Given the description of an element on the screen output the (x, y) to click on. 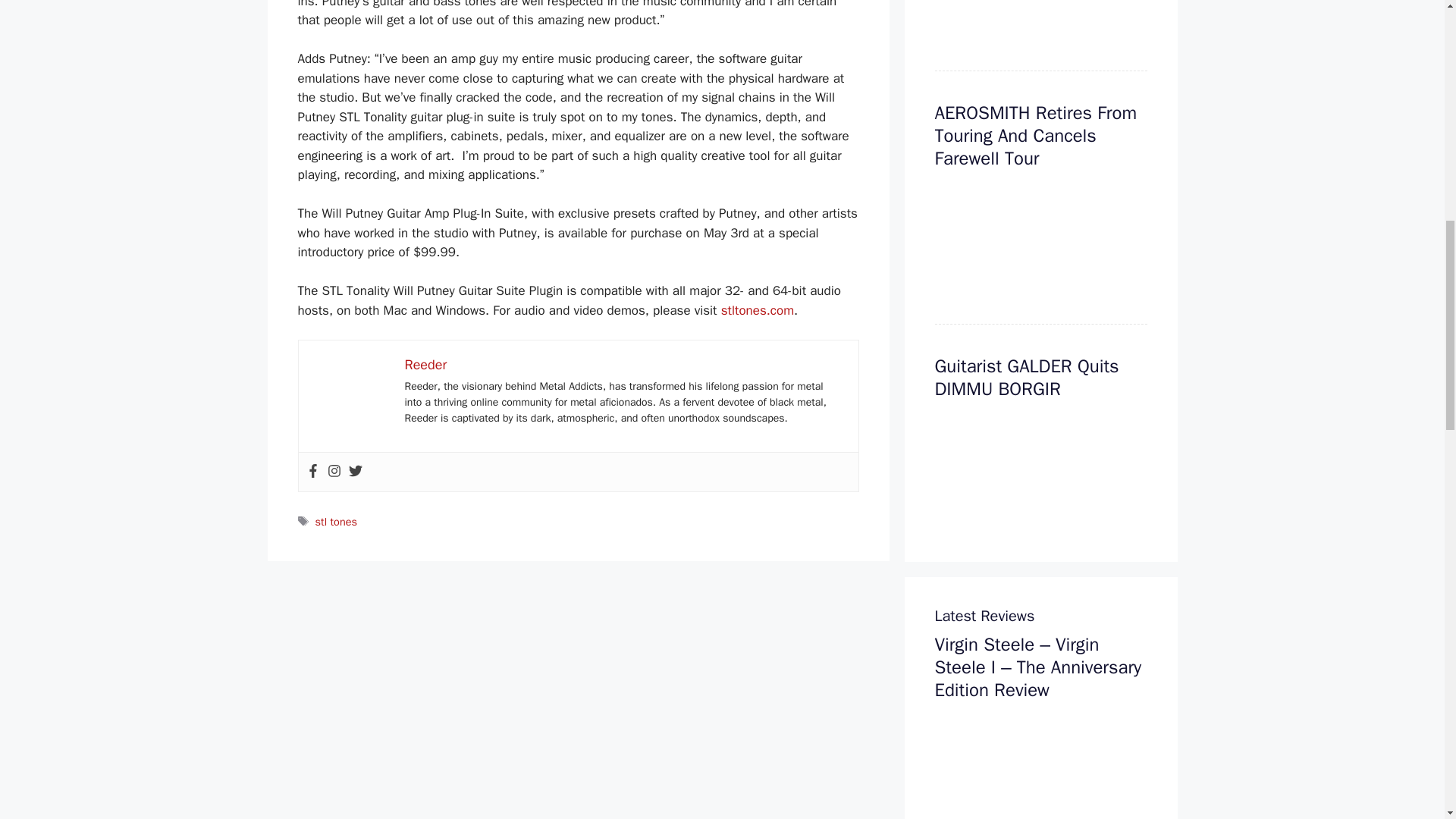
Guitarist GALDER Quits DIMMU BORGIR (1026, 377)
stltones.com (756, 310)
AEROSMITH Retires From Touring And Cancels Farewell Tour (1035, 135)
stl tones (335, 521)
Reeder (425, 364)
